Given the description of an element on the screen output the (x, y) to click on. 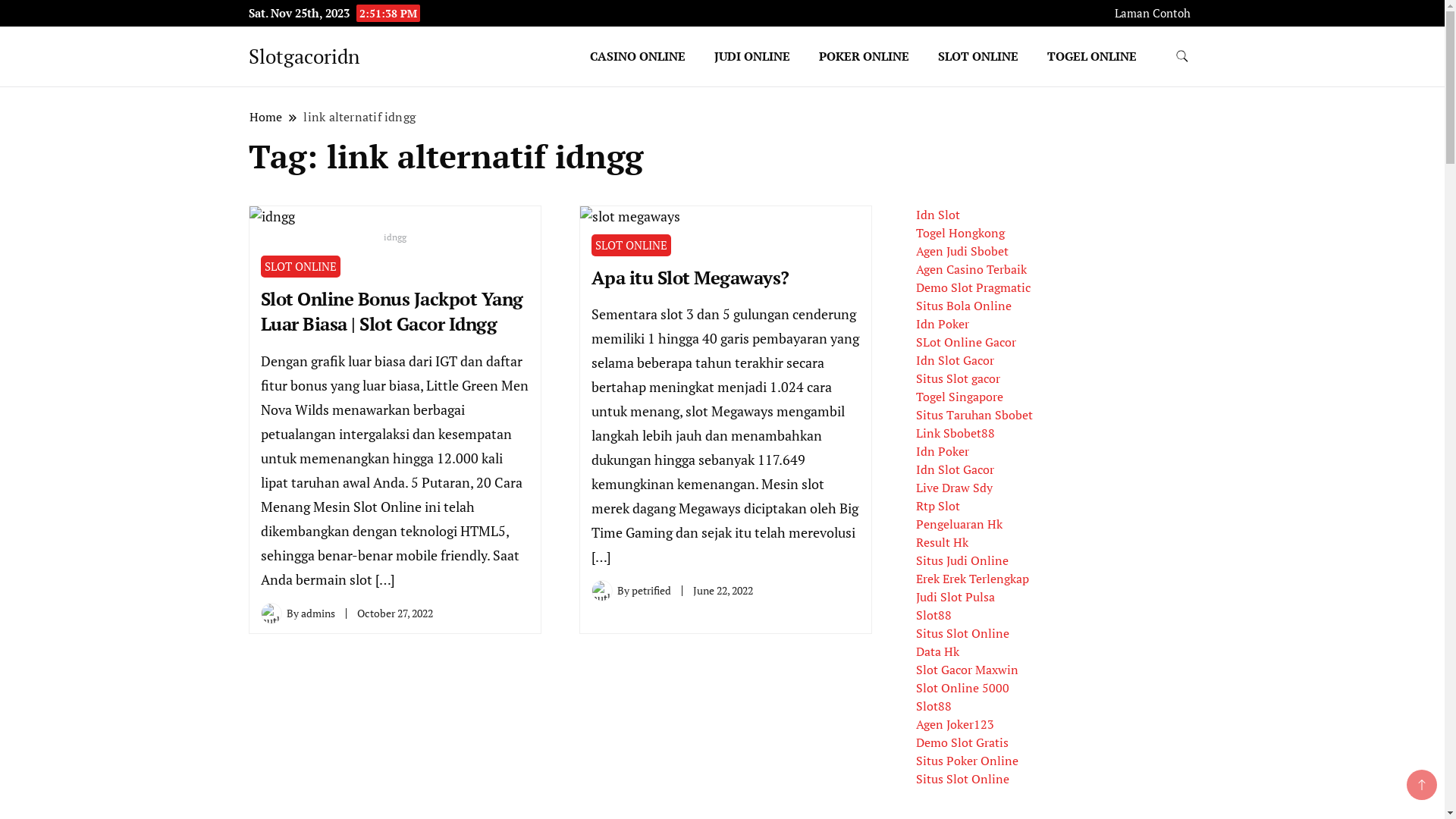
Situs Slot gacor Element type: text (958, 378)
Situs Poker Online Element type: text (967, 760)
Slot88 Element type: text (933, 614)
petrified Element type: text (650, 590)
Idn Slot Element type: text (938, 214)
JUDI ONLINE Element type: text (752, 56)
SLOT ONLINE Element type: text (300, 266)
Slot88 Element type: text (933, 705)
Agen Casino Terbaik Element type: text (971, 268)
Agen Judi Sbobet Element type: text (962, 250)
Situs Slot Online Element type: text (962, 778)
Data Hk Element type: text (937, 651)
Togel Hongkong Element type: text (960, 232)
Apa itu Slot Megaways? Element type: text (690, 277)
Judi Slot Pulsa Element type: text (955, 596)
Demo Slot Pragmatic Element type: text (973, 287)
link alternatif idngg Element type: text (359, 116)
SLot Online Gacor Element type: text (966, 341)
TOGEL ONLINE Element type: text (1091, 56)
Slot Online 5000 Element type: text (962, 687)
Link Sbobet88 Element type: text (955, 432)
Situs Bola Online Element type: text (963, 305)
Result Hk Element type: text (942, 541)
Live Draw Sdy Element type: text (954, 487)
Togel Singapore Element type: text (959, 396)
Situs Judi Online Element type: text (962, 560)
October 27, 2022 Element type: text (394, 612)
Situs Slot Online Element type: text (962, 632)
Slotgacoridn Element type: text (303, 56)
admins Element type: text (317, 612)
Slot Online Bonus Jackpot Yang Luar Biasa | Slot Gacor Idngg Element type: text (391, 311)
SLOT ONLINE Element type: text (631, 245)
POKER ONLINE Element type: text (864, 56)
Demo Slot Gratis Element type: text (962, 742)
idngg Element type: text (393, 227)
Idn Slot Gacor Element type: text (955, 469)
Agen Joker123 Element type: text (955, 723)
Slot Gacor Maxwin Element type: text (967, 669)
SLOT ONLINE Element type: text (978, 56)
Pengeluaran Hk Element type: text (959, 523)
Idn Poker Element type: text (942, 323)
CASINO ONLINE Element type: text (637, 56)
Situs Taruhan Sbobet Element type: text (974, 414)
Idn Slot Gacor Element type: text (955, 359)
Home Element type: text (265, 116)
Idn Poker Element type: text (942, 450)
Laman Contoh Element type: text (1152, 13)
Rtp Slot Element type: text (938, 505)
Erek Erek Terlengkap Element type: text (972, 578)
June 22, 2022 Element type: text (723, 590)
